Given the description of an element on the screen output the (x, y) to click on. 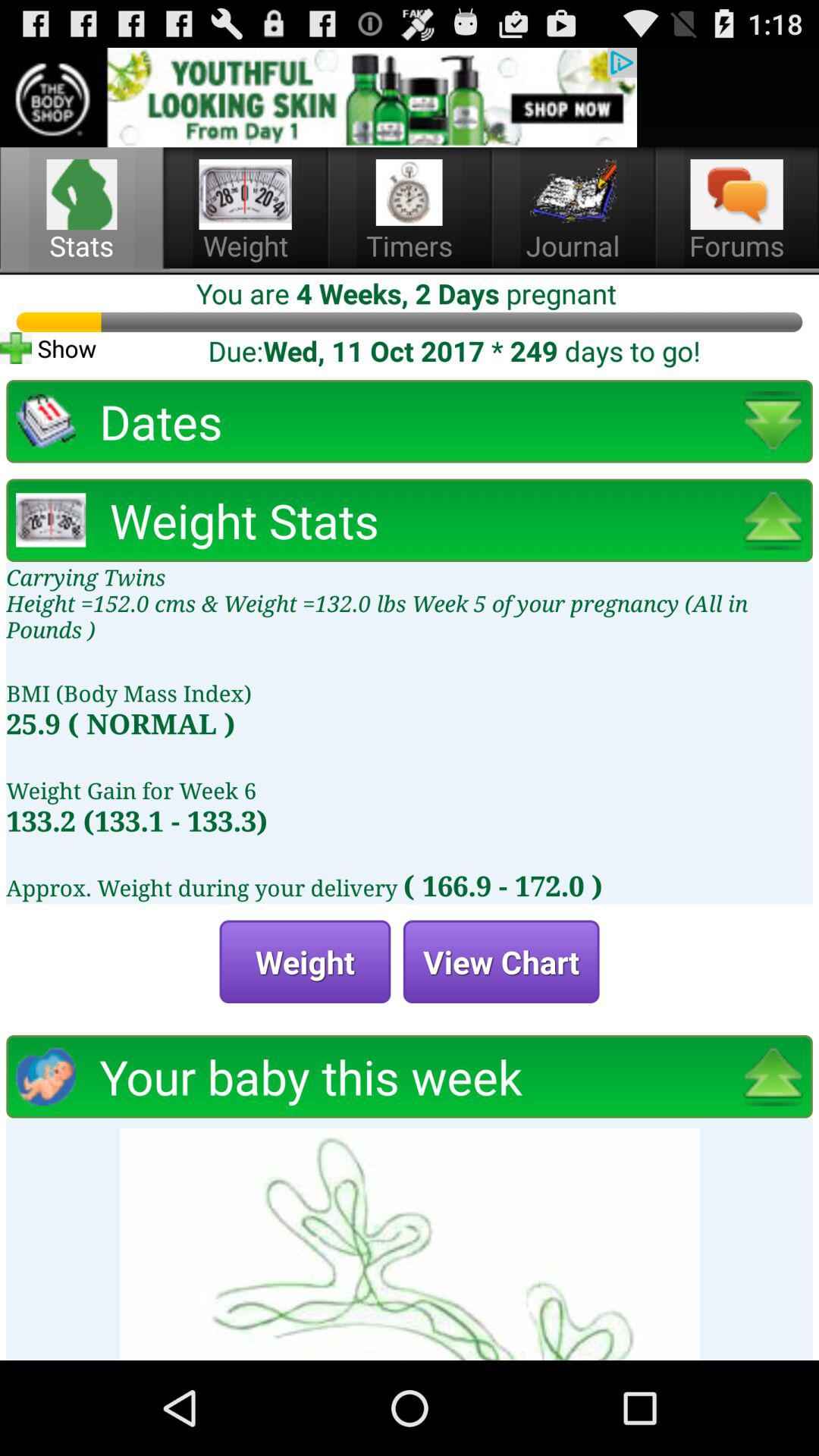
go to advertisement store (318, 97)
